Given the description of an element on the screen output the (x, y) to click on. 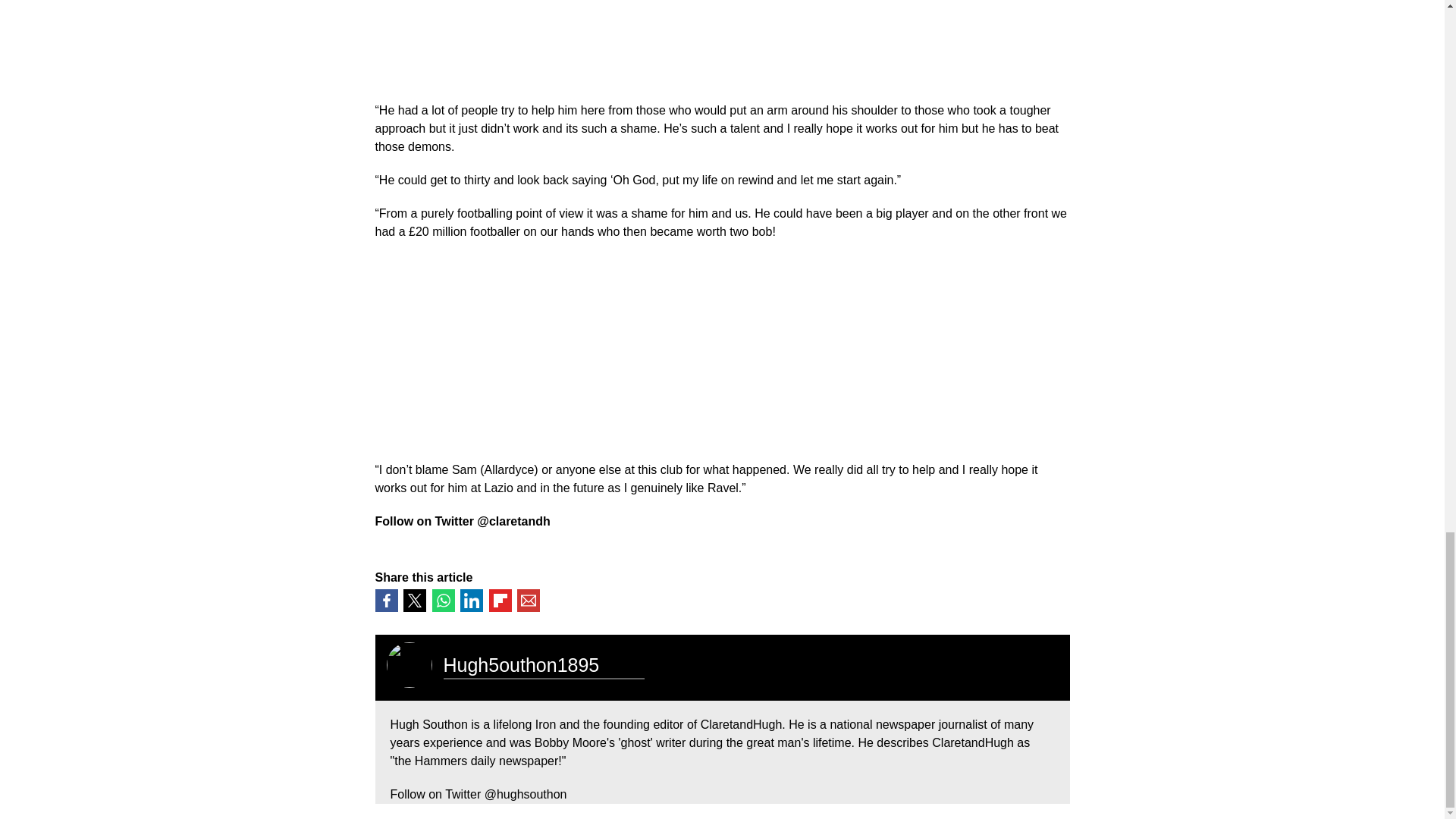
share on Twitter (414, 599)
share on LinkedIn (471, 599)
share on Flipboard (499, 599)
share on Email (528, 599)
share on Facebook (385, 599)
share on WhatsApp (443, 599)
Hugh5outhon1895 (520, 664)
